Given the description of an element on the screen output the (x, y) to click on. 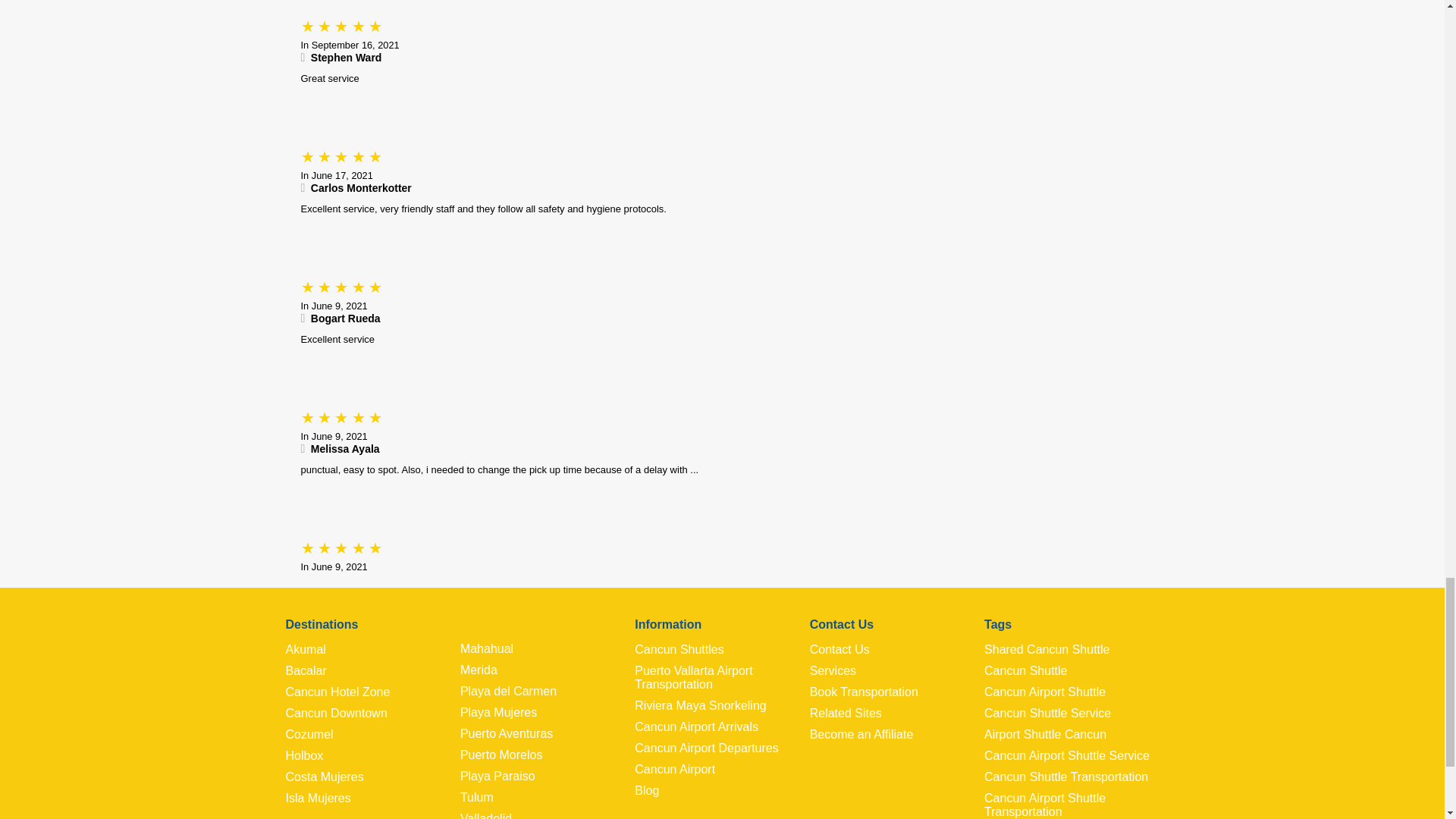
Bacalar (372, 671)
Cancun Hotel Zone (372, 692)
Akumal (372, 649)
